Given the description of an element on the screen output the (x, y) to click on. 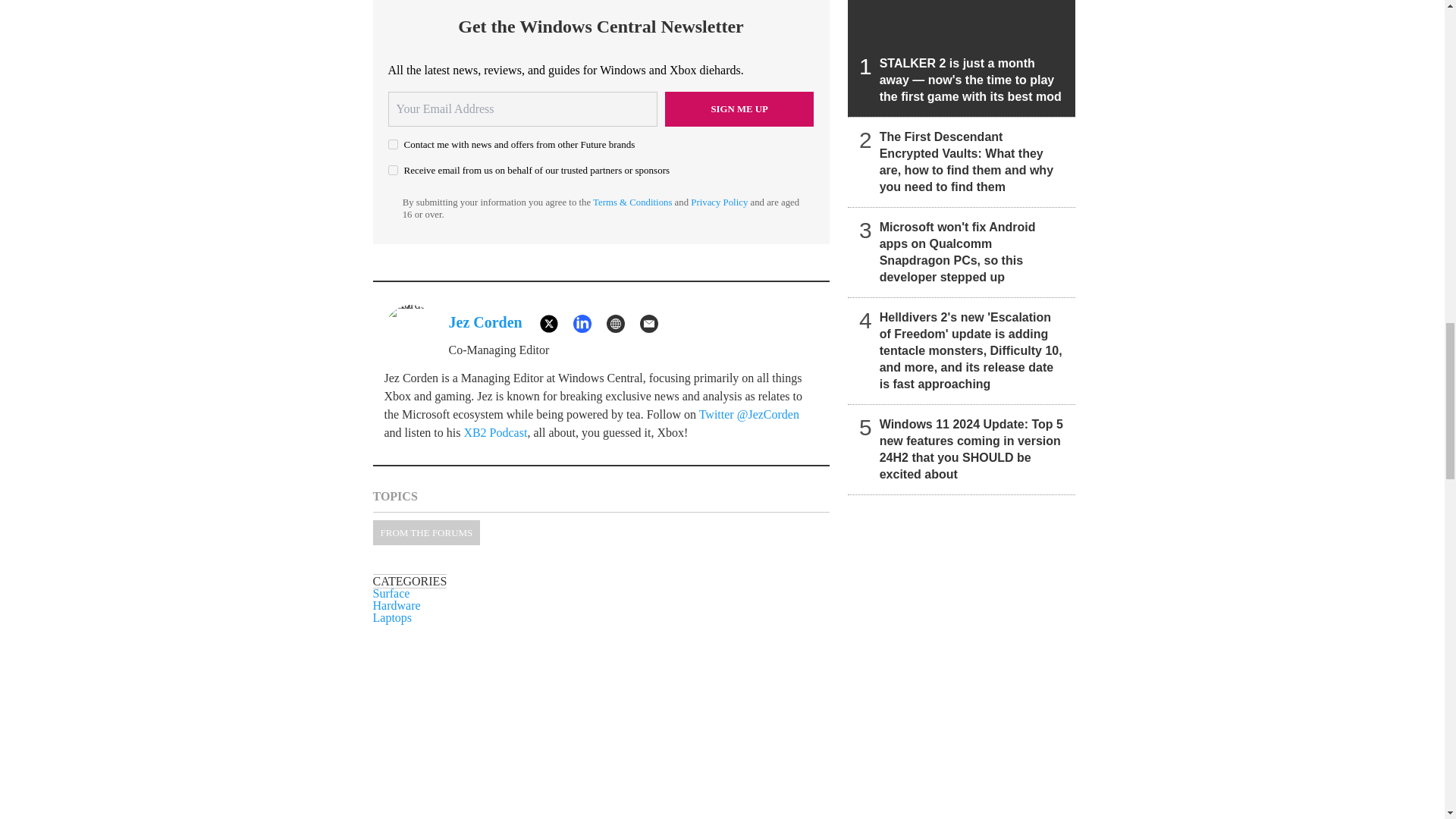
Privacy Policy (719, 202)
Jez Corden (485, 321)
Sign me up (739, 108)
on (392, 170)
on (392, 144)
Sign me up (739, 108)
